Given the description of an element on the screen output the (x, y) to click on. 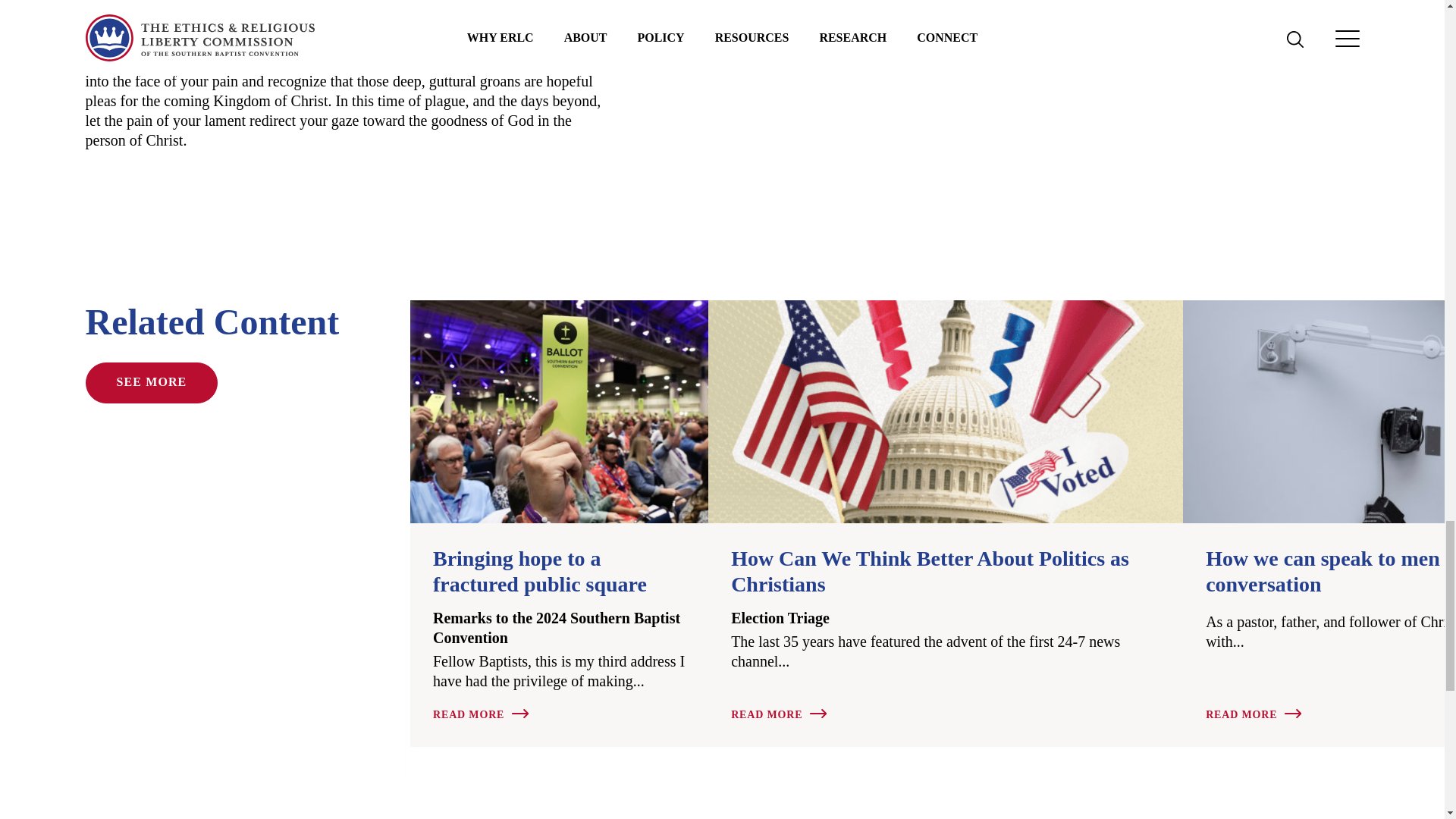
SEE MORE (150, 382)
